Given the description of an element on the screen output the (x, y) to click on. 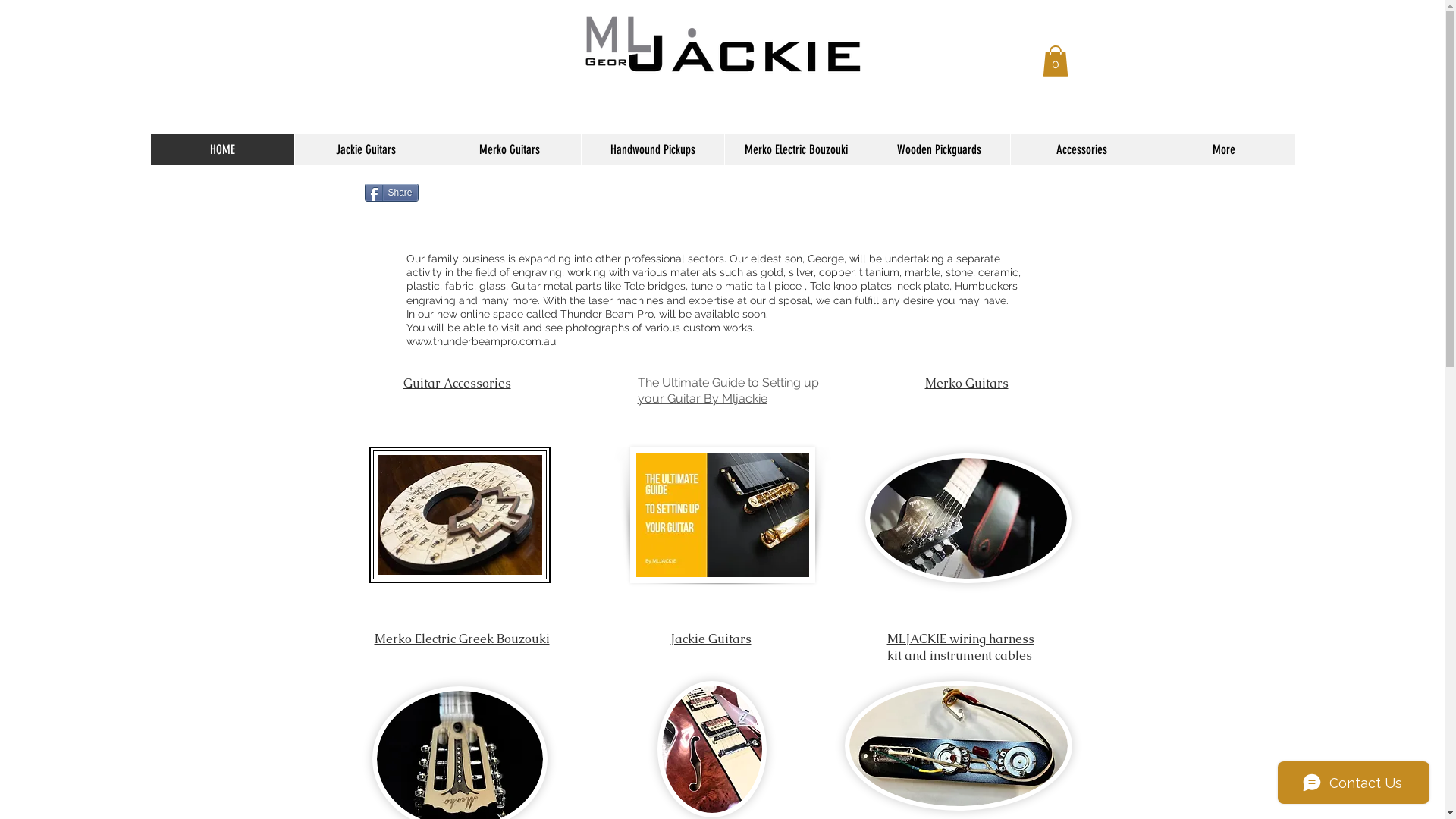
Merko Electric Greek Bouzouki Element type: text (461, 638)
www.thunderbeampro.com.au Element type: text (480, 341)
Jackie Guitars Element type: text (710, 638)
Merko Guitars Element type: text (966, 383)
Guitar Accessories Element type: text (457, 383)
The Ultimate Guide to Setting up your Guitar By Mljackie Element type: text (727, 390)
Share Element type: text (390, 192)
Wooden Pickguards Element type: text (938, 149)
Merko Guitars Element type: text (508, 149)
Handwound Pickups Element type: text (652, 149)
HOME Element type: text (221, 149)
MLJACKIE wiring harness kit and instrument cables Element type: text (960, 646)
0 Element type: text (1054, 60)
Facebook Like Element type: hover (534, 198)
Wix Hit Counter Element type: hover (419, 56)
Merko Electric Bouzouki Element type: text (794, 149)
Accessories Element type: text (1081, 149)
IMG_1186.JPG Element type: hover (721, 514)
IMG_0349.JPG Element type: hover (958, 745)
Jackie Guitars Element type: text (365, 149)
